Given the description of an element on the screen output the (x, y) to click on. 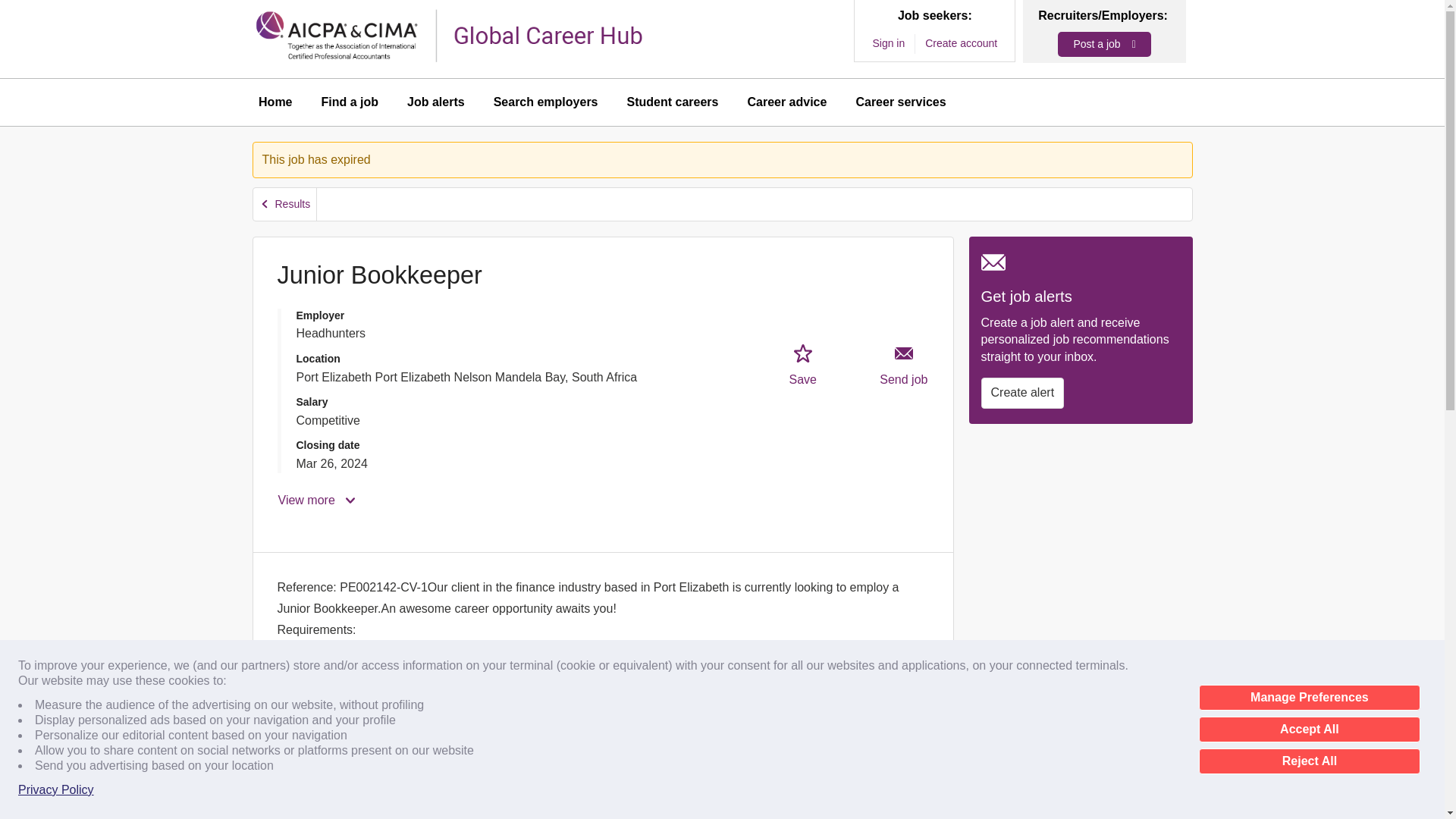
Search employers (545, 101)
Manage Preferences (1309, 697)
Privacy Policy (55, 789)
Create alert (1022, 392)
View more (318, 500)
Sign in (888, 44)
Create account (960, 44)
Accept All (1309, 729)
Find a job (349, 101)
Reject All (1309, 760)
Post a job (1104, 43)
Career advice (786, 101)
Job alerts (435, 101)
Career services (900, 101)
Student careers (673, 101)
